Given the description of an element on the screen output the (x, y) to click on. 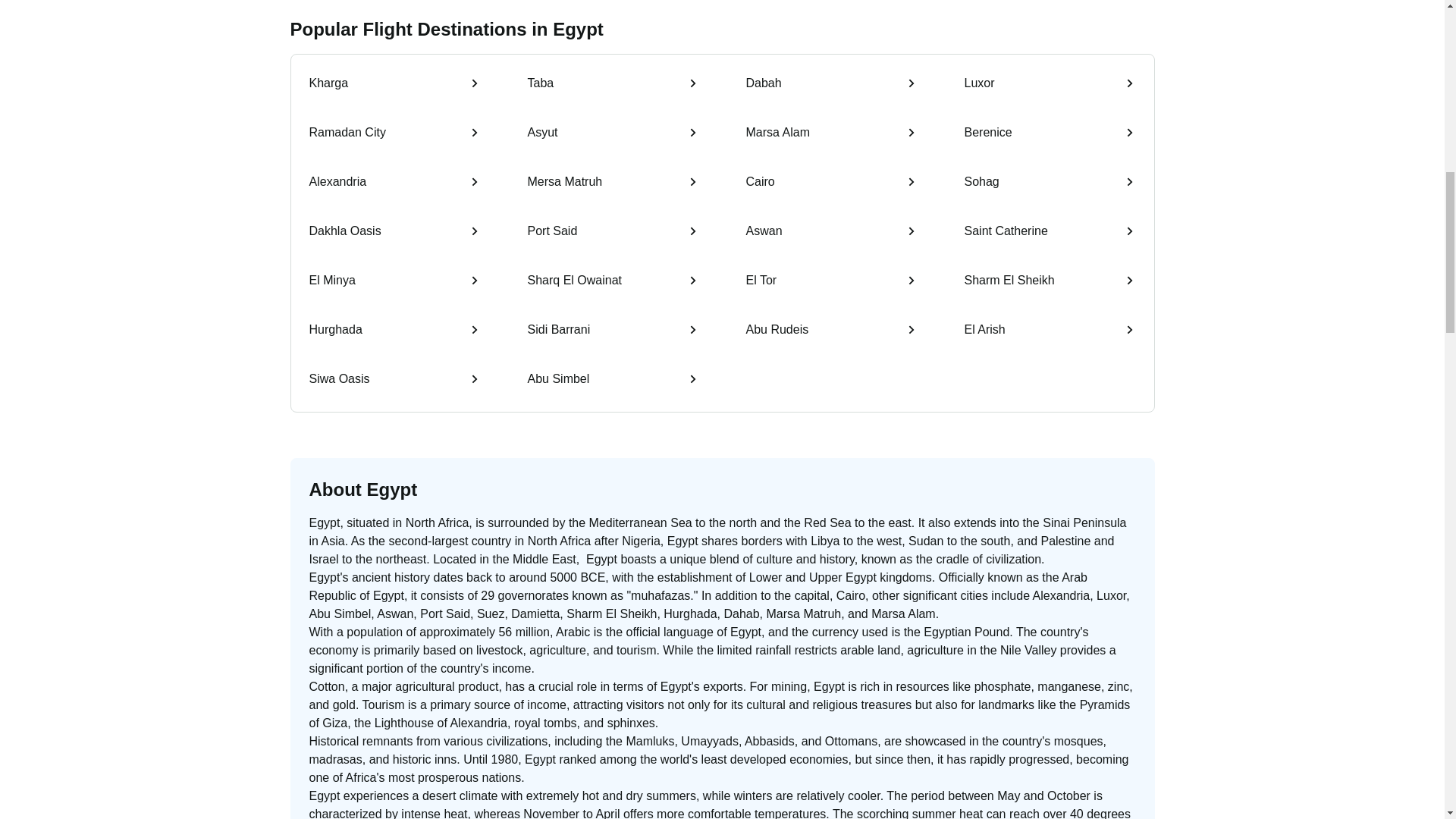
flights to Dakhla Oasis (395, 232)
flights to Sohag (1050, 184)
Aswan (831, 232)
Alexandria (395, 184)
Port Said (613, 232)
Cairo (831, 184)
flights to Alexandria (395, 184)
flights to Port Said (613, 232)
flights to Aswan (831, 232)
Marsa Alam (831, 134)
Sharq El Owainat (613, 282)
Sohag (1050, 184)
Sharm El Sheikh (1050, 282)
flights to Berenice (1050, 134)
Berenice (1050, 134)
